Given the description of an element on the screen output the (x, y) to click on. 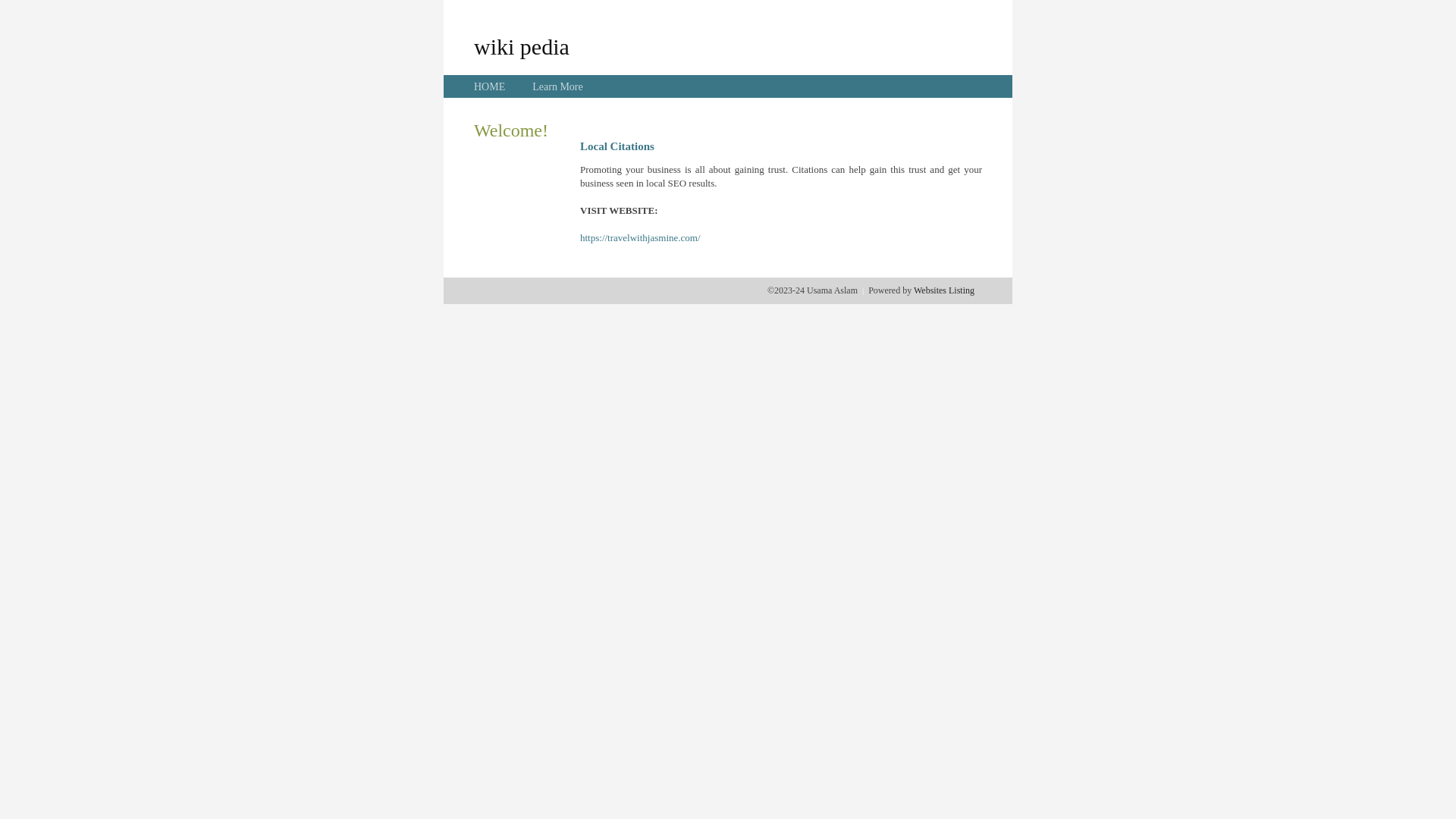
https://travelwithjasmine.com/ Element type: text (640, 237)
Learn More Element type: text (557, 86)
wiki pedia Element type: text (521, 46)
HOME Element type: text (489, 86)
Websites Listing Element type: text (943, 290)
